Given the description of an element on the screen output the (x, y) to click on. 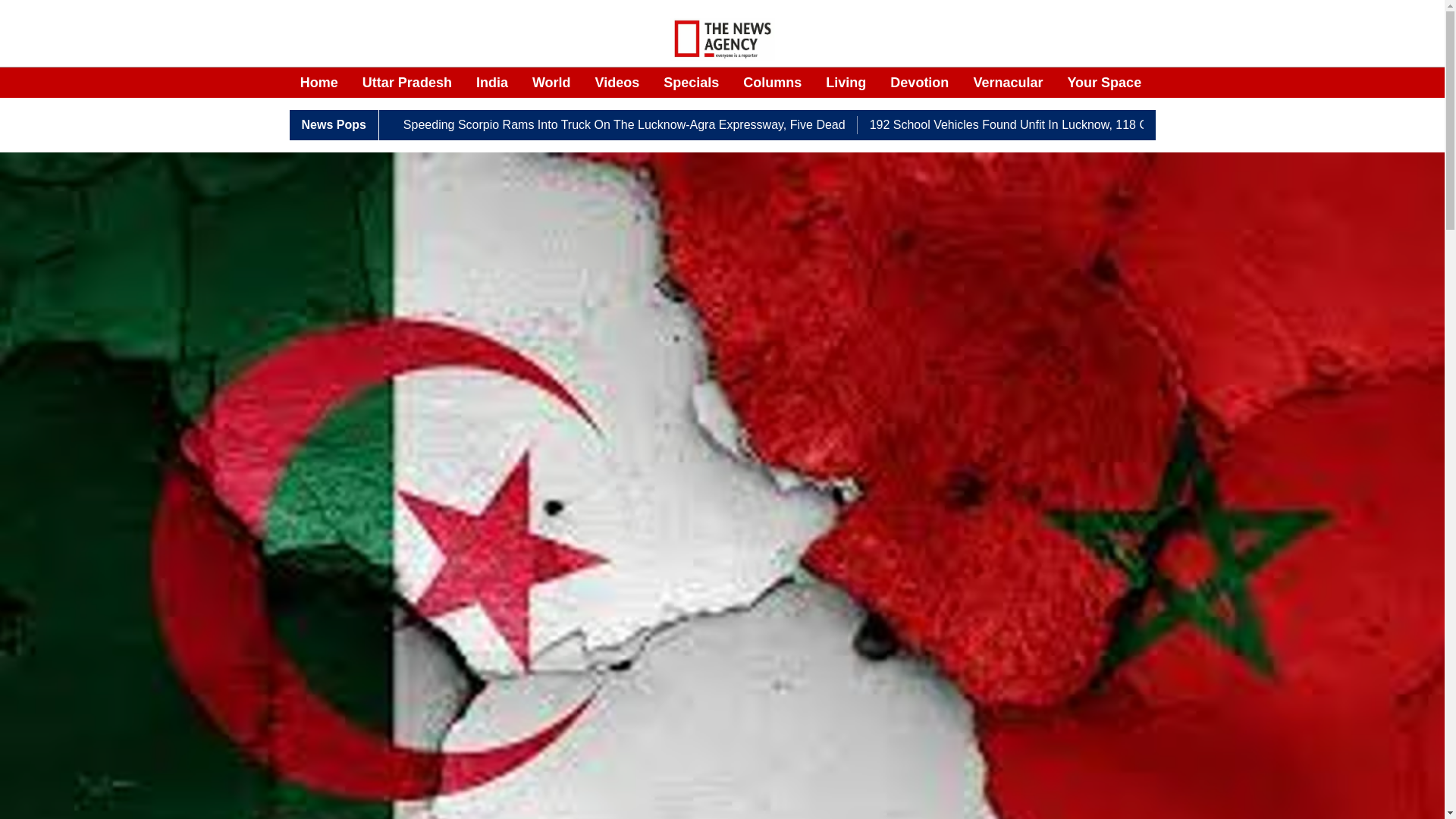
Videos (617, 82)
Columns (772, 82)
192 School Vehicles Found Unfit In Lucknow, 118 Challaned (1031, 125)
World (551, 82)
Devotion (919, 82)
Your Space (1104, 82)
Specials (691, 82)
Vernacular (1007, 82)
India (492, 82)
Living (845, 82)
Home (318, 82)
Uttar Pradesh (406, 82)
